Given the description of an element on the screen output the (x, y) to click on. 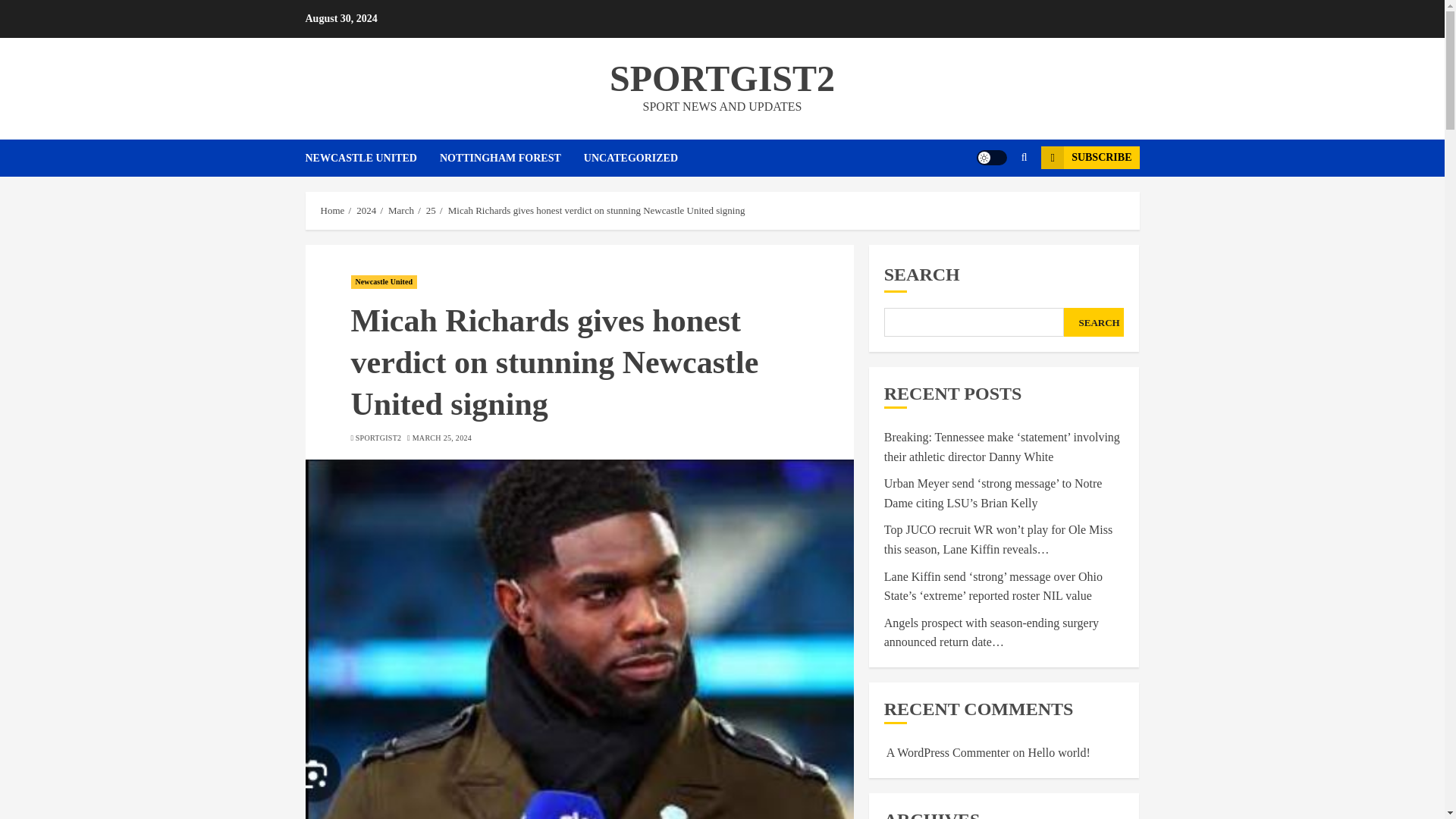
Hello world! (1058, 753)
A WordPress Commenter (948, 753)
NOTTINGHAM FOREST (511, 157)
2024 (365, 210)
SPORTGIST2 (722, 78)
SUBSCRIBE (1089, 157)
March (400, 210)
Newcastle United (383, 282)
SEARCH (1094, 321)
